Given the description of an element on the screen output the (x, y) to click on. 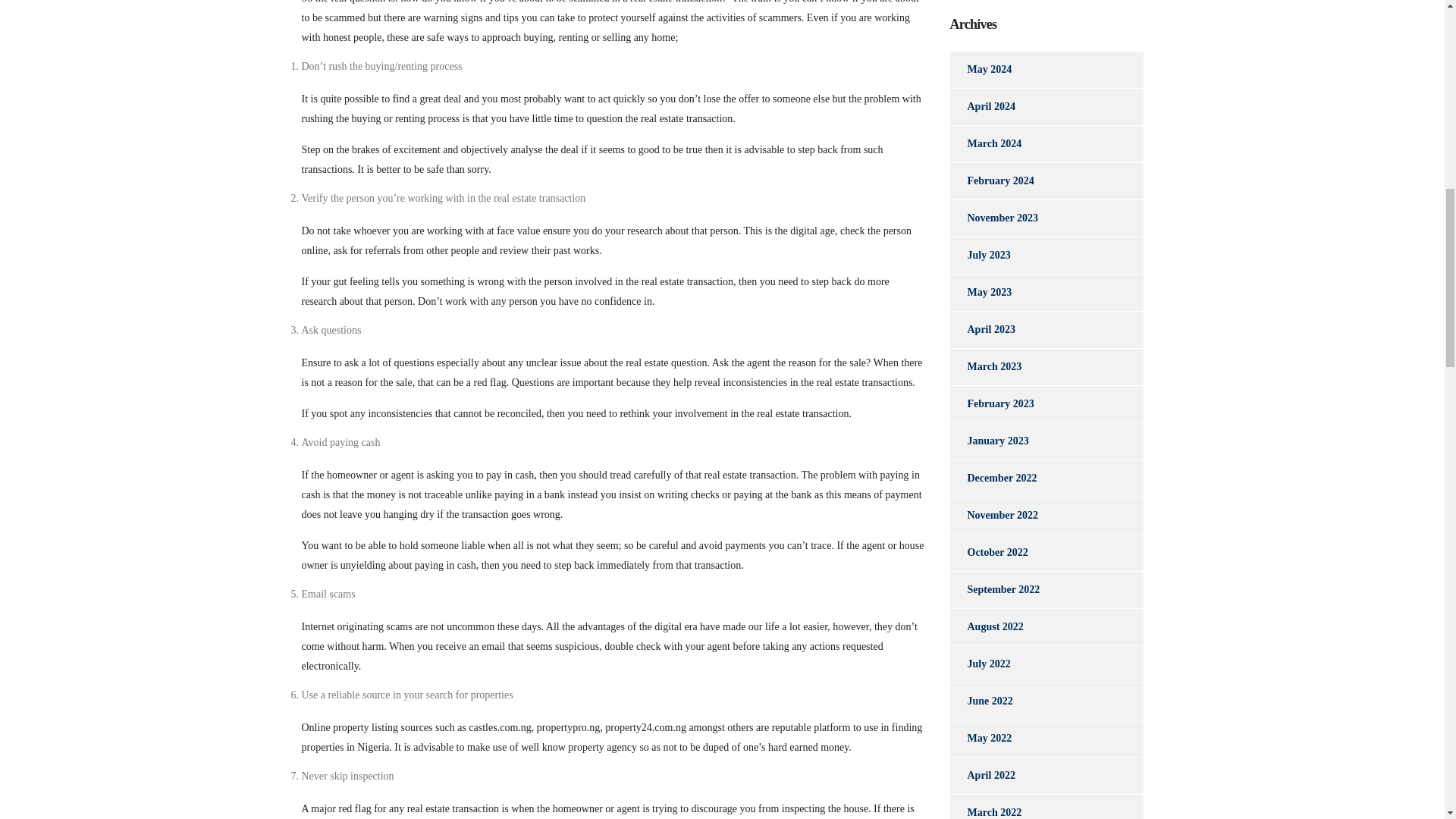
April 2023 (981, 330)
November 2023 (992, 217)
July 2023 (979, 255)
April 2024 (981, 106)
May 2024 (980, 69)
February 2023 (991, 403)
May 2023 (980, 292)
March 2024 (985, 144)
March 2023 (985, 366)
February 2024 (991, 180)
